Given the description of an element on the screen output the (x, y) to click on. 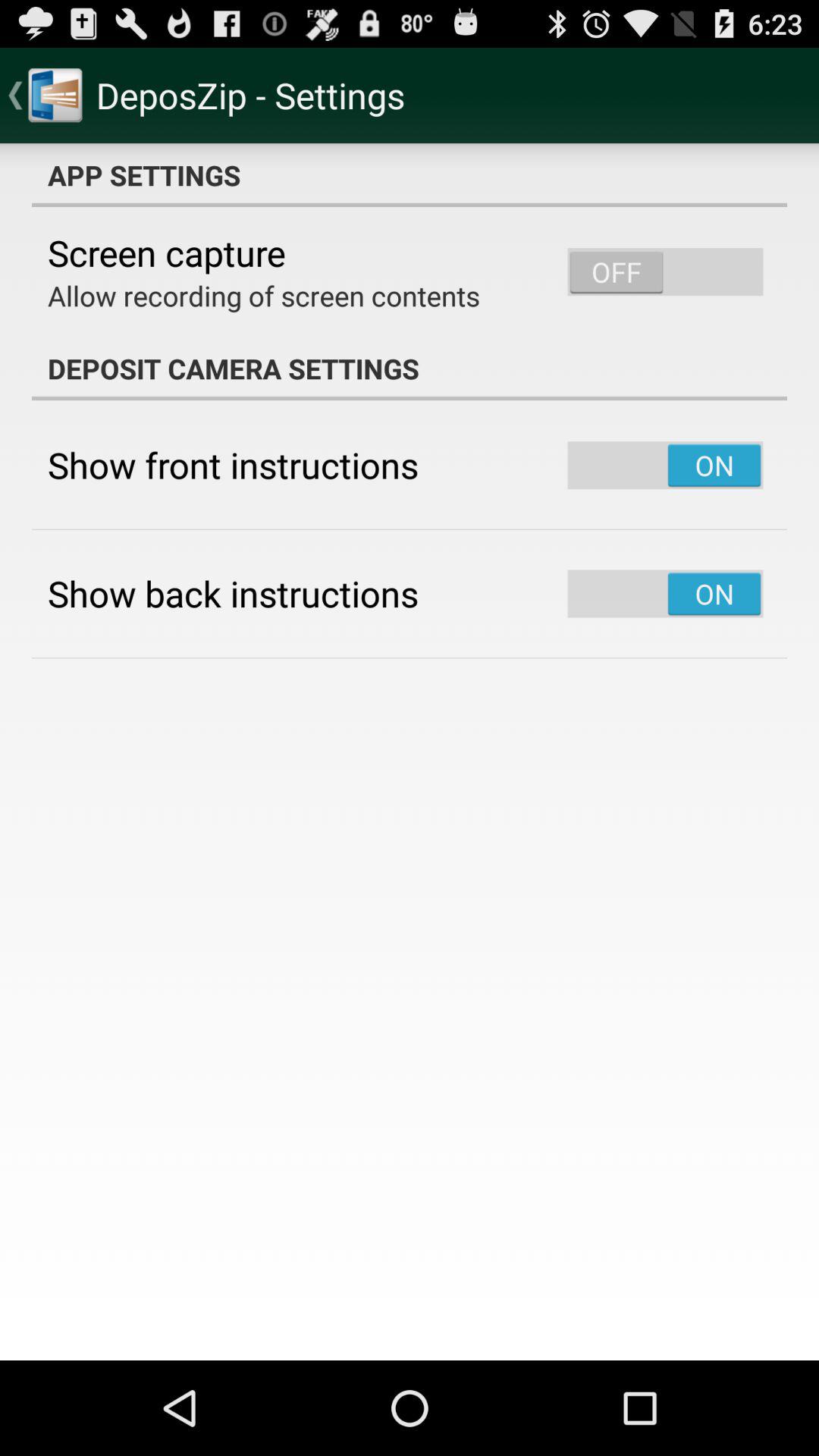
click the app above the allow recording of (166, 252)
